Given the description of an element on the screen output the (x, y) to click on. 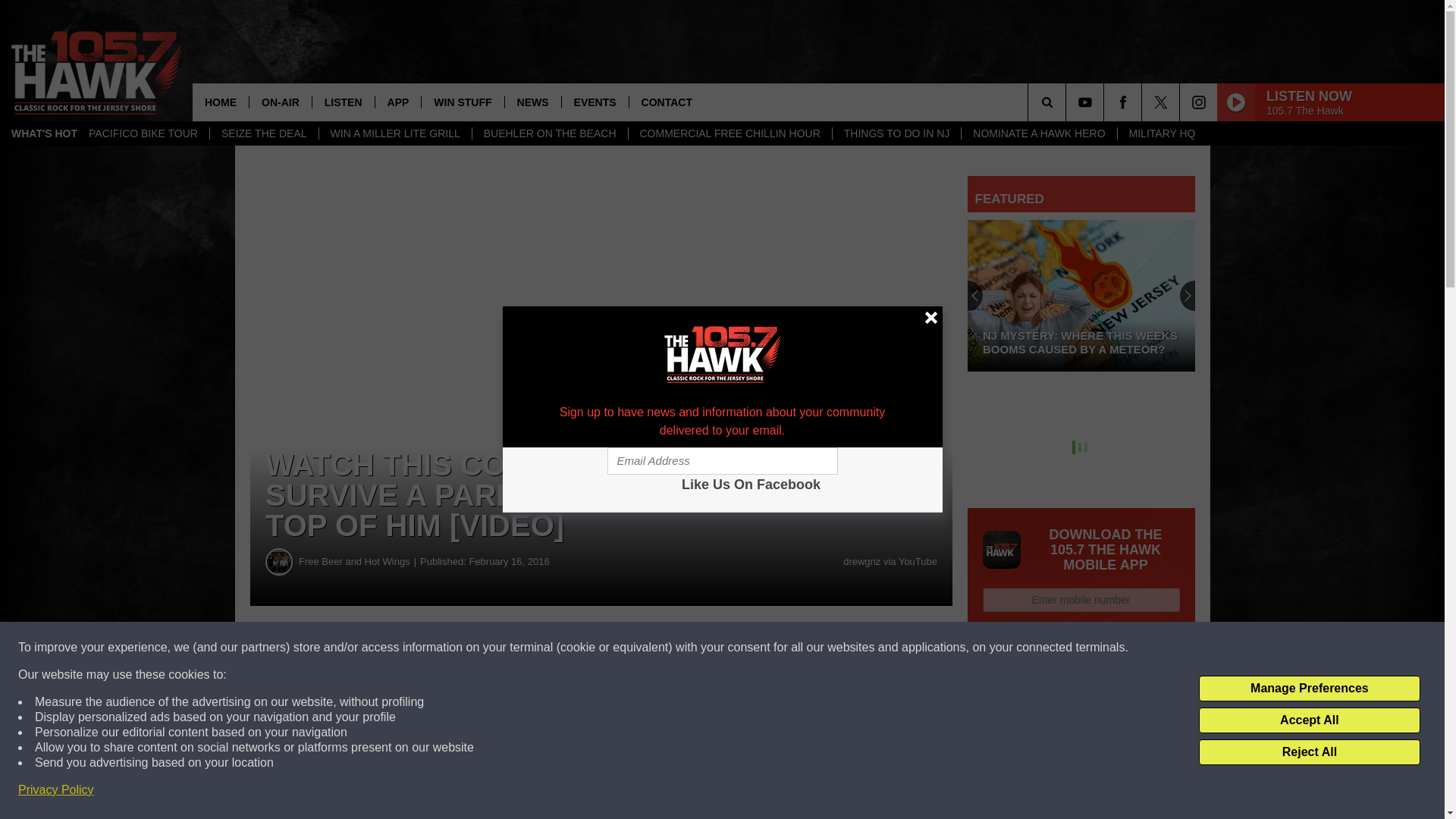
Share on Facebook (460, 647)
PACIFICO BIKE TOUR (143, 133)
NOMINATE A HAWK HERO (1038, 133)
Share on Twitter (741, 647)
Accept All (1309, 720)
THINGS TO DO IN NJ (895, 133)
BUEHLER ON THE BEACH (549, 133)
ON-AIR (279, 102)
LISTEN (342, 102)
MILITARY HQ (1161, 133)
Reject All (1309, 751)
Email Address (722, 461)
WIN STUFF (461, 102)
SEARCH (1068, 102)
HOME (220, 102)
